Given the description of an element on the screen output the (x, y) to click on. 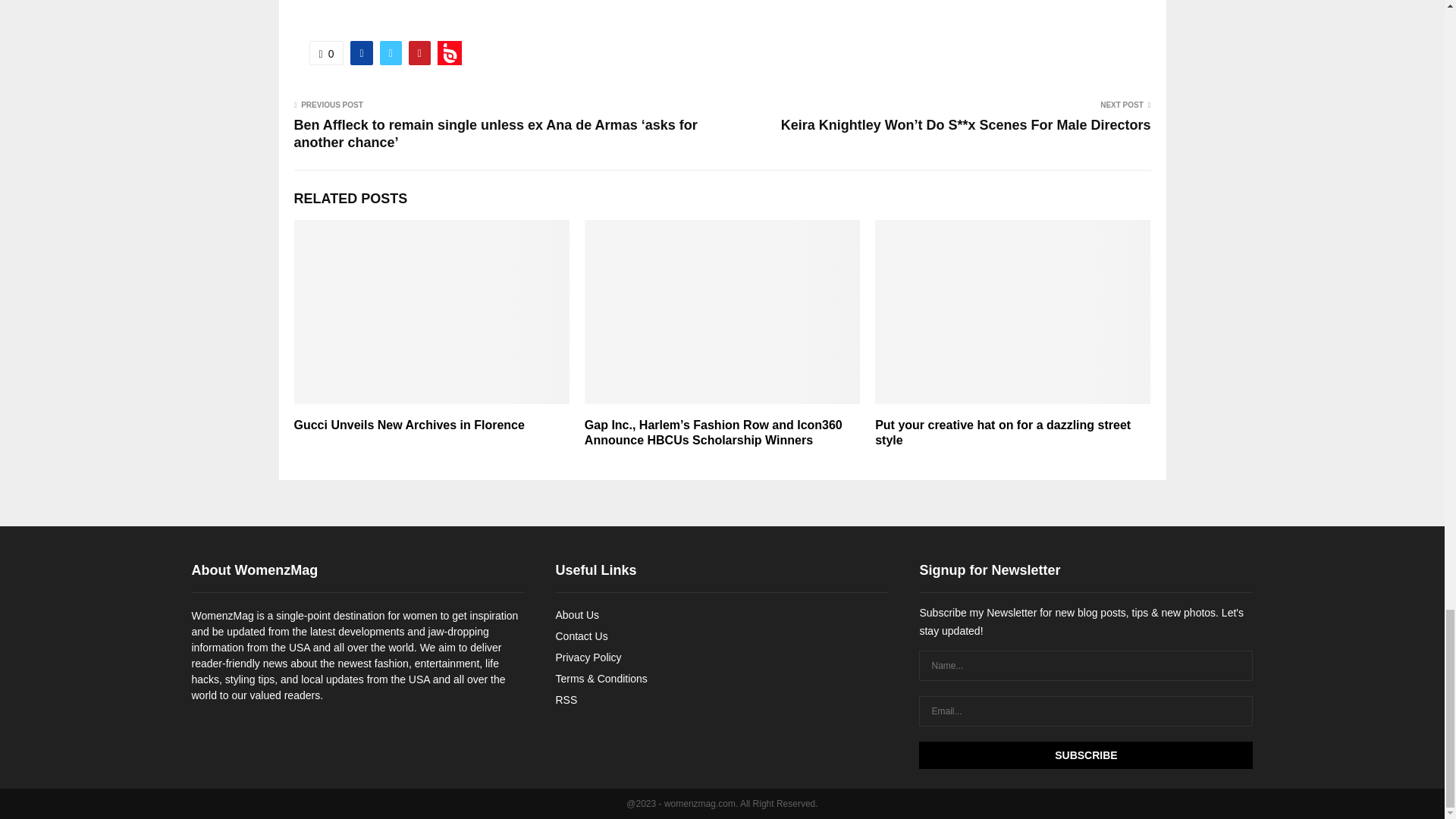
Subscribe (1085, 754)
0 (325, 52)
Put your creative hat on for a dazzling street style (1003, 432)
Like (325, 52)
Gucci Unveils New Archives in Florence (409, 424)
